Given the description of an element on the screen output the (x, y) to click on. 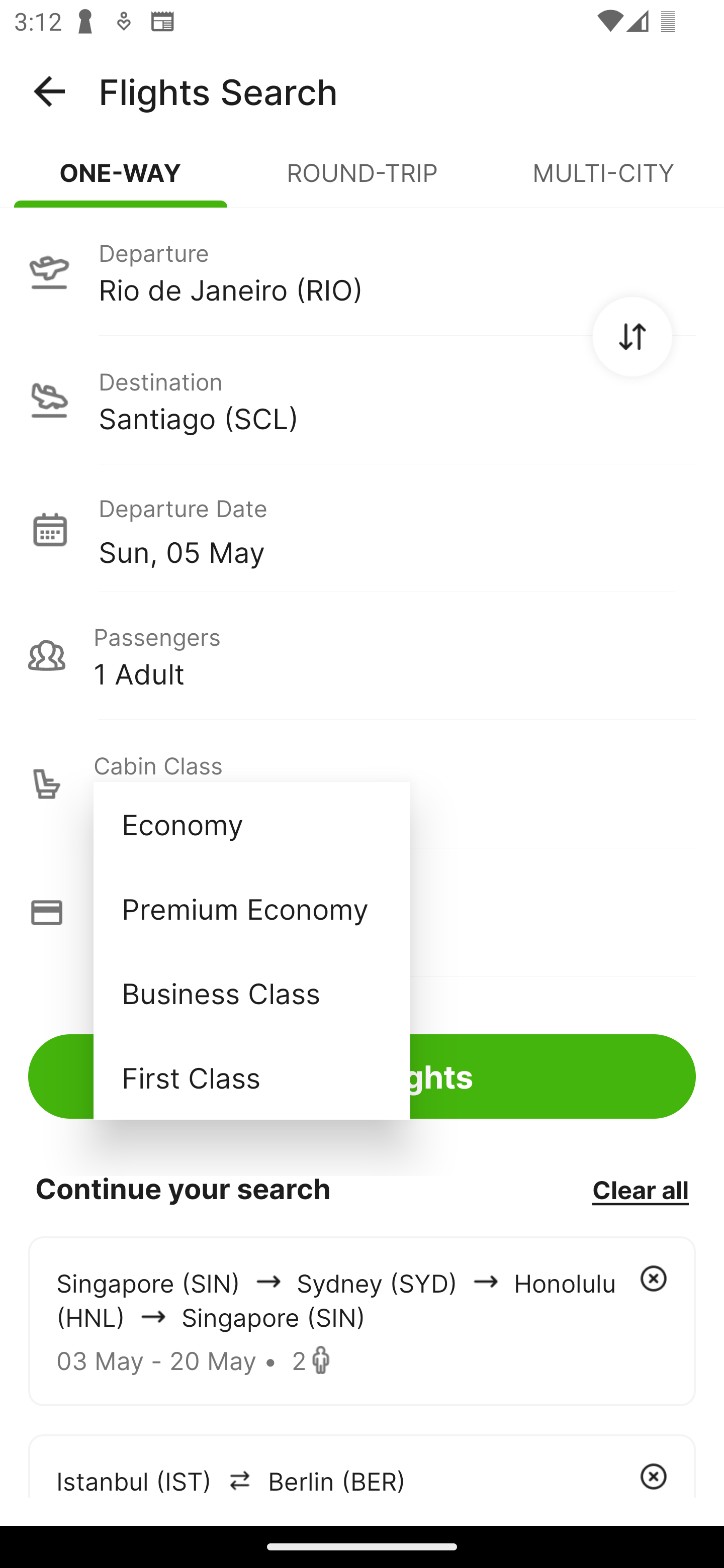
Economy (251, 824)
Premium Economy (251, 908)
Business Class (251, 992)
First Class (251, 1076)
